Given the description of an element on the screen output the (x, y) to click on. 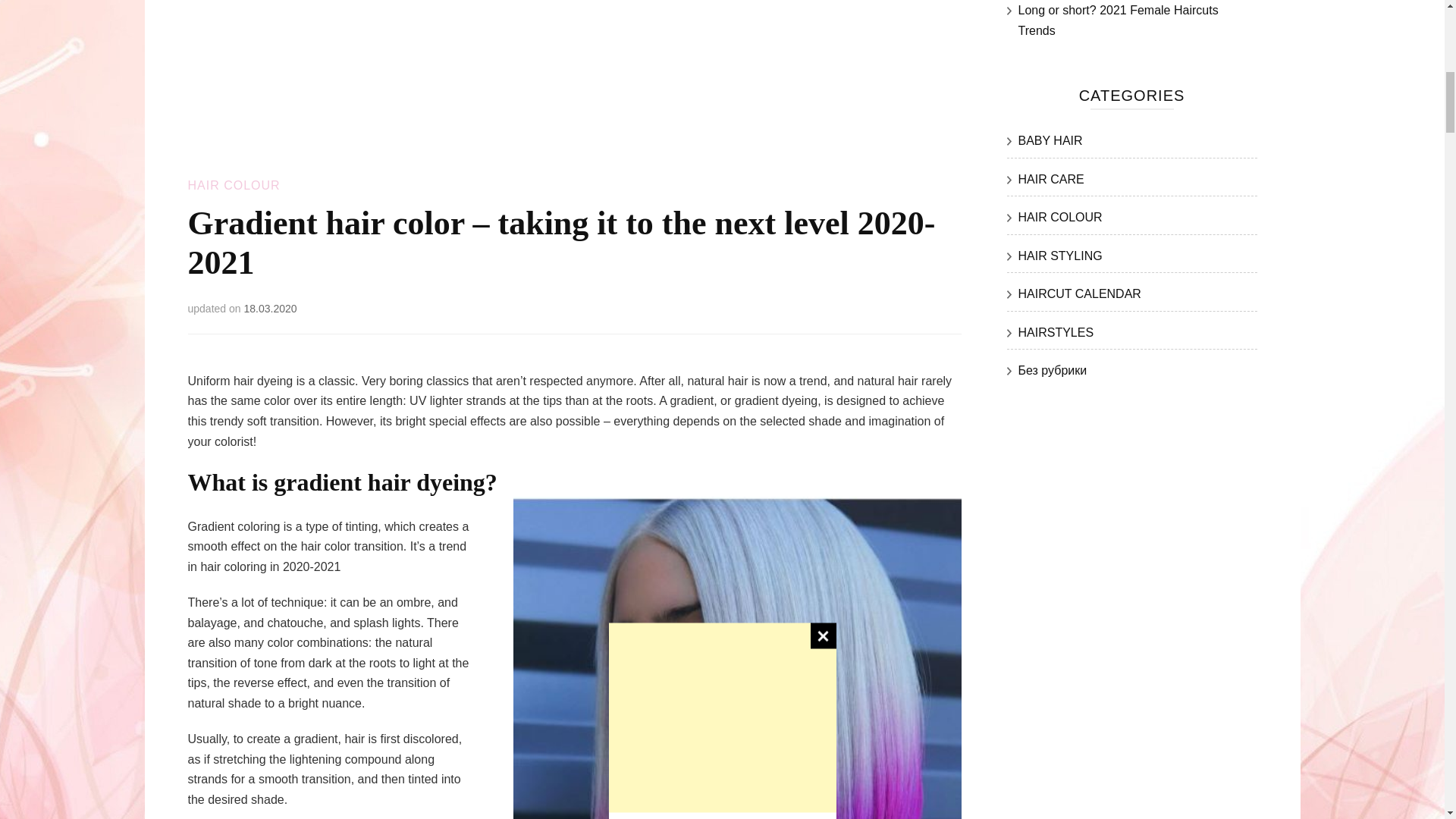
HAIR STYLING (1059, 255)
Long or short? 2021 Female Haircuts Trends (1117, 20)
HAIR COLOUR (234, 185)
HAIRCUT CALENDAR (1078, 293)
BABY HAIR (1049, 140)
HAIR COLOUR (1059, 216)
18.03.2020 (270, 308)
HAIR CARE (1050, 178)
HAIRSTYLES (1055, 332)
